Given the description of an element on the screen output the (x, y) to click on. 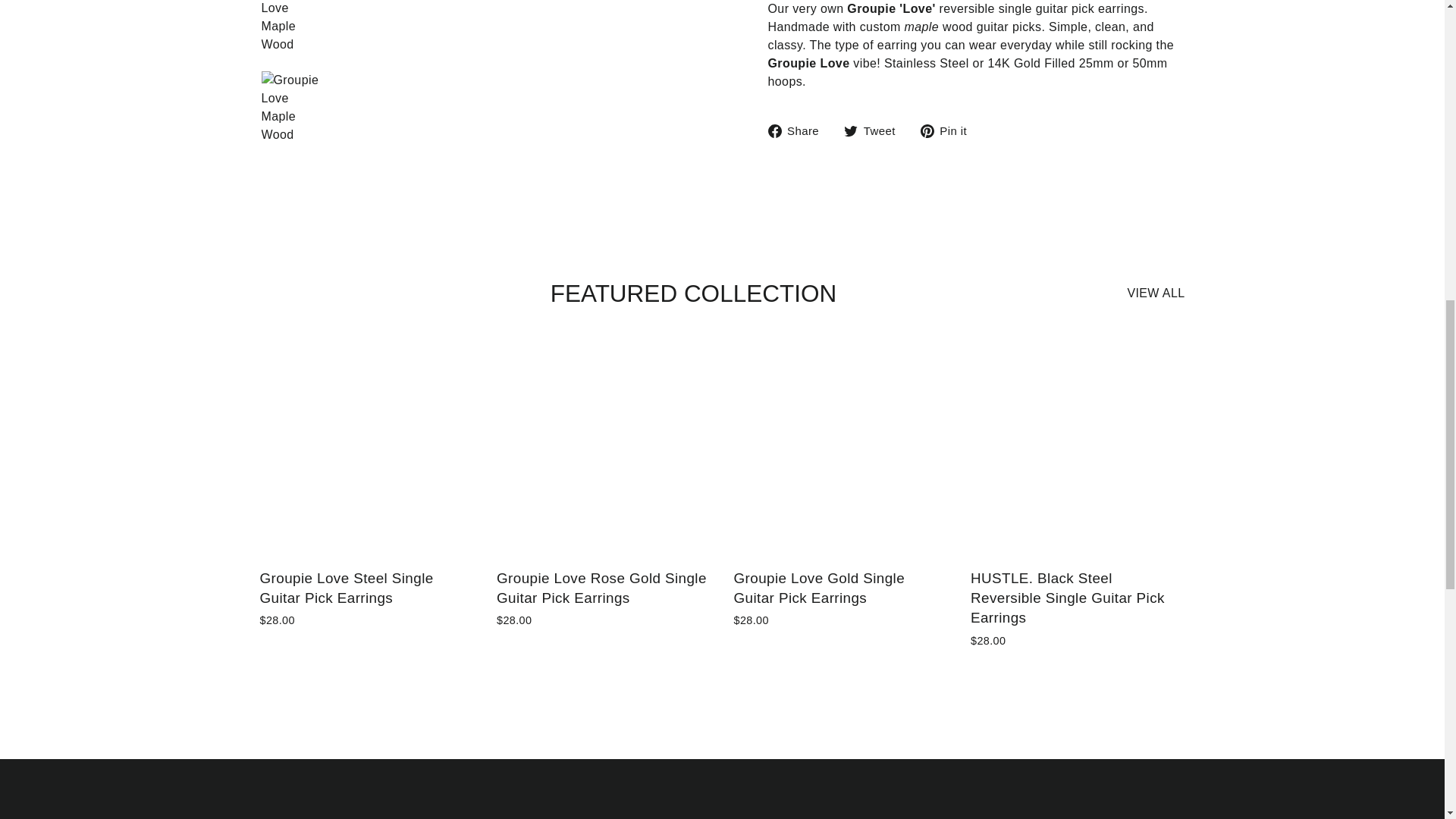
twitter (850, 131)
Tweet on Twitter (875, 130)
Pin on Pinterest (949, 130)
Share on Facebook (798, 130)
